Given the description of an element on the screen output the (x, y) to click on. 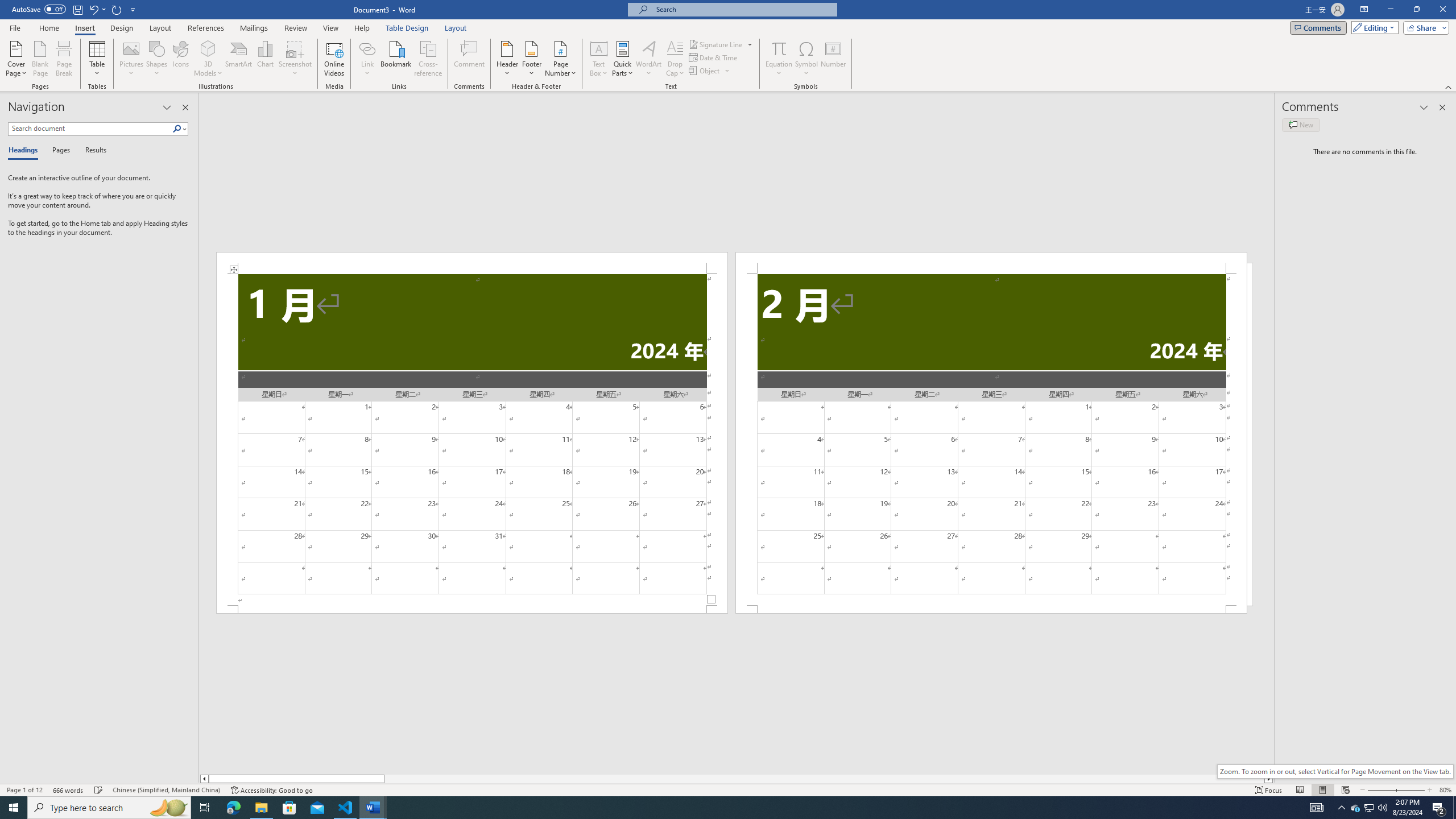
Link (367, 48)
Undo Increase Indent (96, 9)
Equation (778, 48)
Link (367, 58)
Icons (180, 58)
Page right (823, 778)
New comment (1300, 124)
Object... (709, 69)
Header -Section 2- (991, 263)
Column right (1268, 778)
Undo Increase Indent (92, 9)
Column left (203, 778)
